Given the description of an element on the screen output the (x, y) to click on. 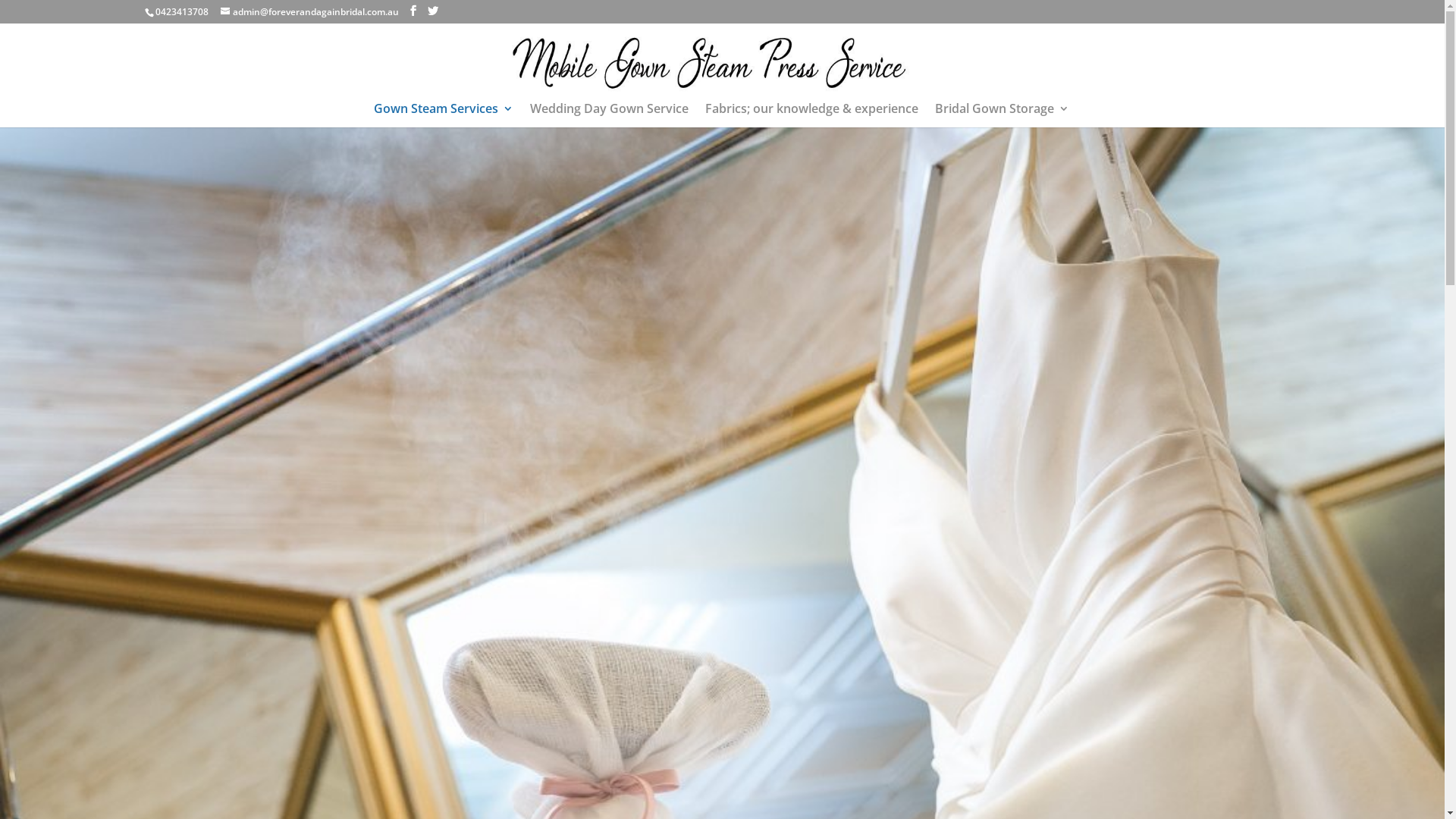
admin@foreverandagainbridal.com.au Element type: text (308, 11)
Gown Steam Services Element type: text (443, 115)
Wedding Day Gown Service Element type: text (609, 115)
Bridal Gown Storage Element type: text (1002, 115)
Fabrics; our knowledge & experience Element type: text (811, 115)
